Given the description of an element on the screen output the (x, y) to click on. 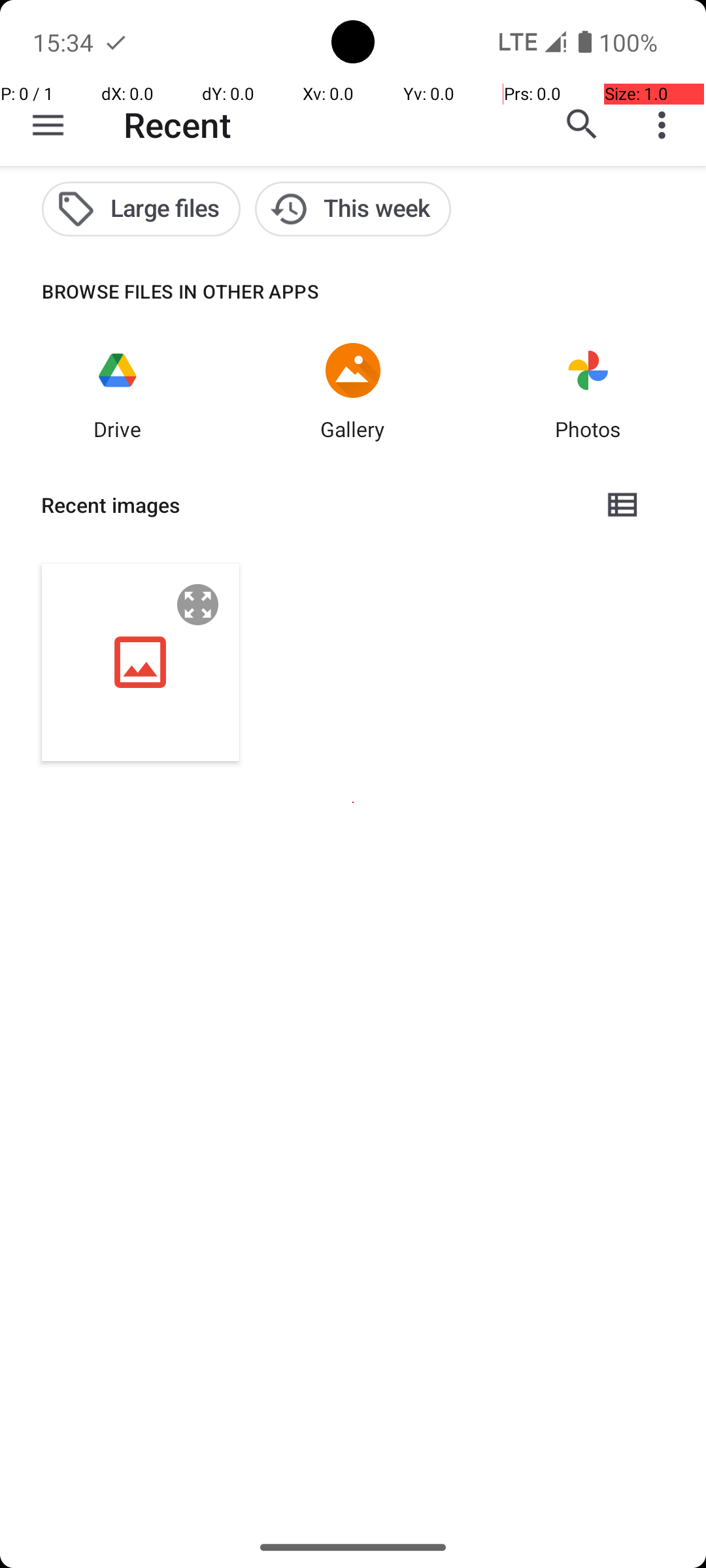
Recent images Element type: android.widget.TextView (311, 504)
IMG_20231015_153418.jpg, 30.95 kB, 15:34 Element type: android.widget.LinearLayout (140, 662)
Preview the file IMG_20231015_153418.jpg Element type: android.widget.FrameLayout (197, 604)
